Given the description of an element on the screen output the (x, y) to click on. 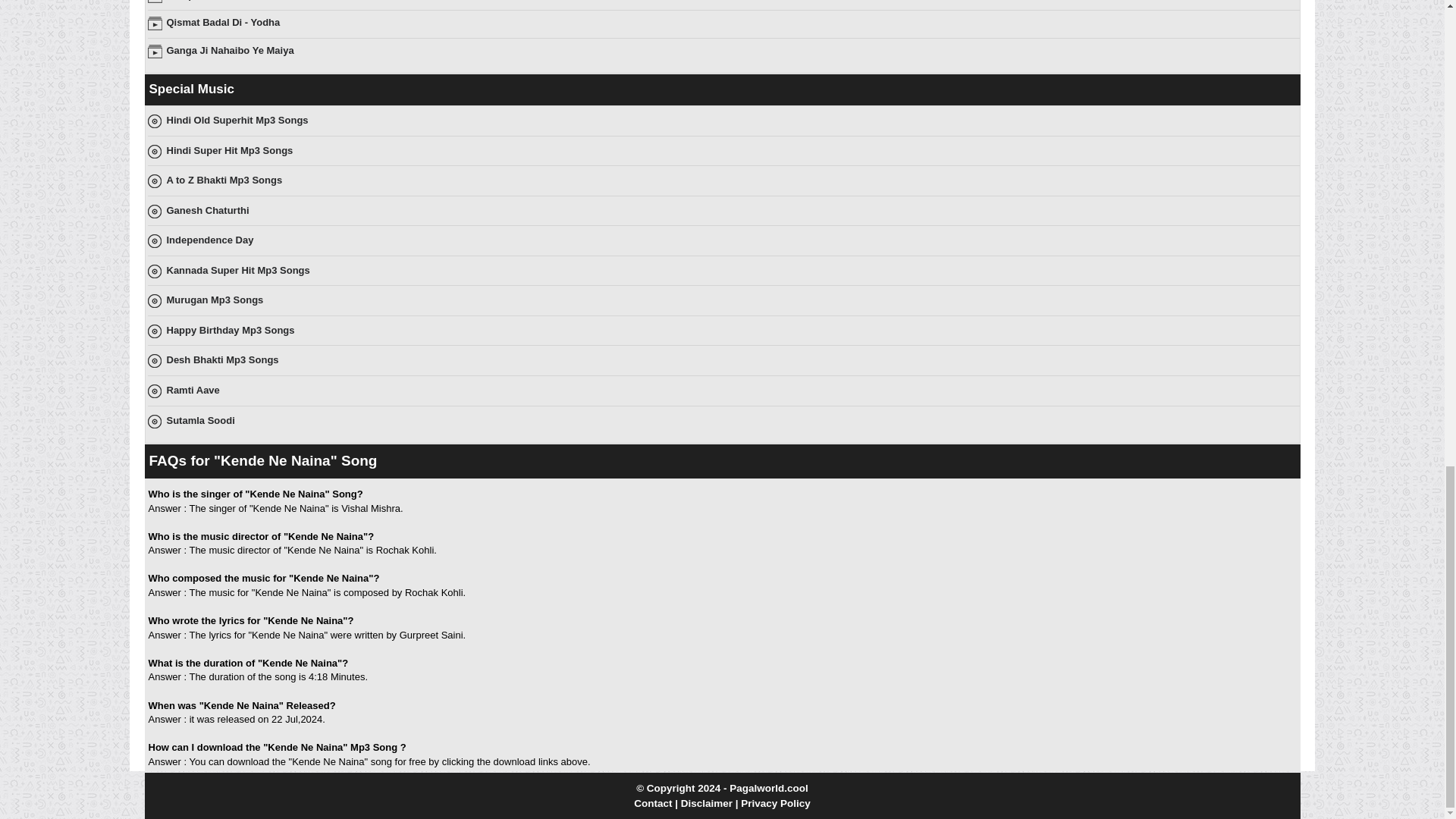
Cheques (187, 0)
Cheques (187, 0)
A to Z Bhakti Mp3 Songs (224, 179)
Hindi Super Hit Mp3 Songs (230, 150)
Hindi Old Superhit Mp3 Songs (237, 120)
Independence Day (210, 239)
Hindi Old Superhit Mp3 Songs (237, 120)
Ganesh Chaturthi (207, 210)
Kannada Super Hit Mp3 Songs (238, 270)
Ganga Ji Nahaibo Ye Maiya (230, 50)
Qismat Badal Di - Yodha (224, 21)
Murugan Mp3 Songs (215, 299)
Qismat Badal Di - Yodha (224, 21)
Ganga Ji Nahaibo Ye Maiya (230, 50)
